Given the description of an element on the screen output the (x, y) to click on. 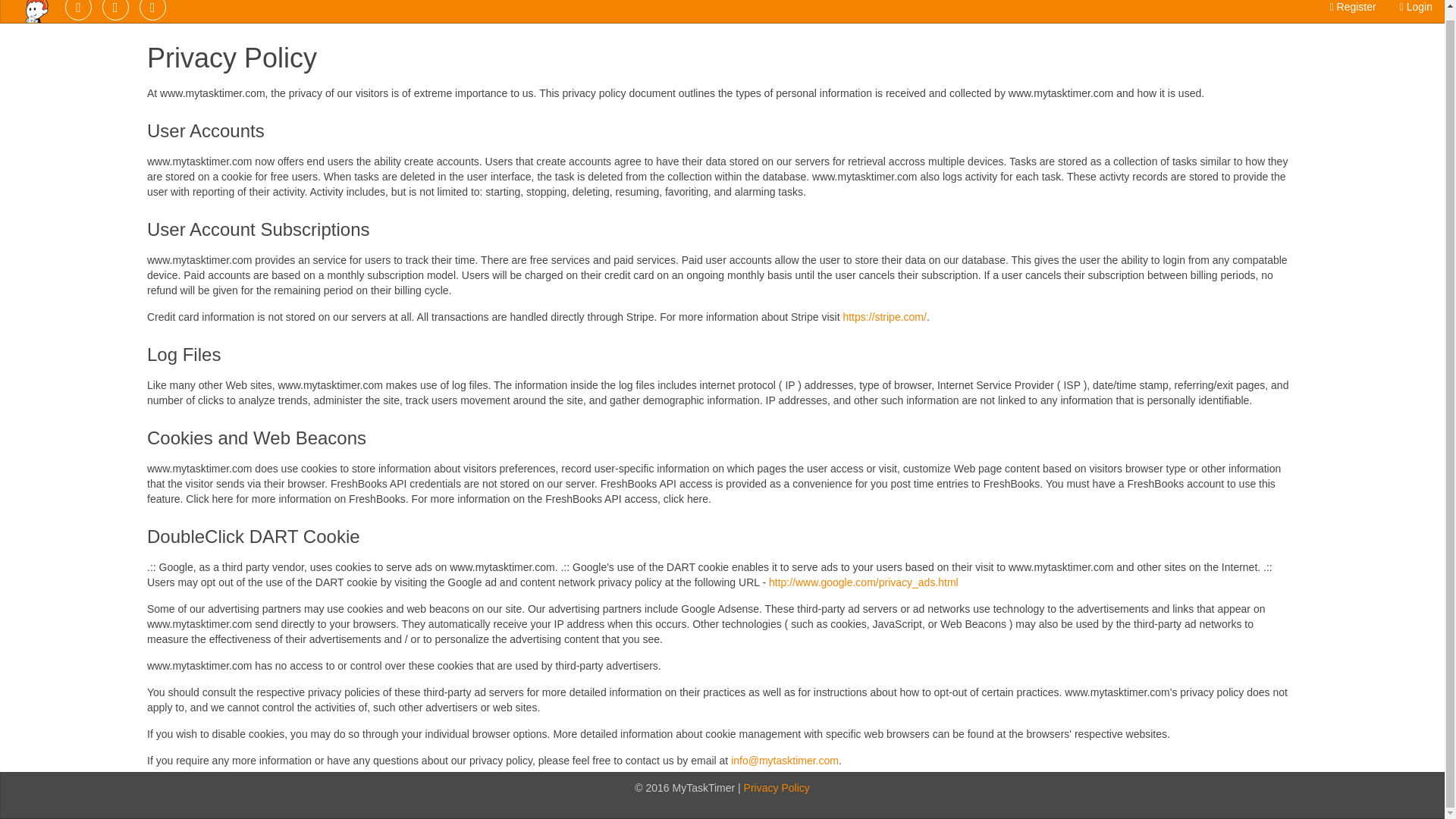
Register (1353, 11)
MyTaskTimer (34, 18)
Privacy Policy (776, 787)
